Given the description of an element on the screen output the (x, y) to click on. 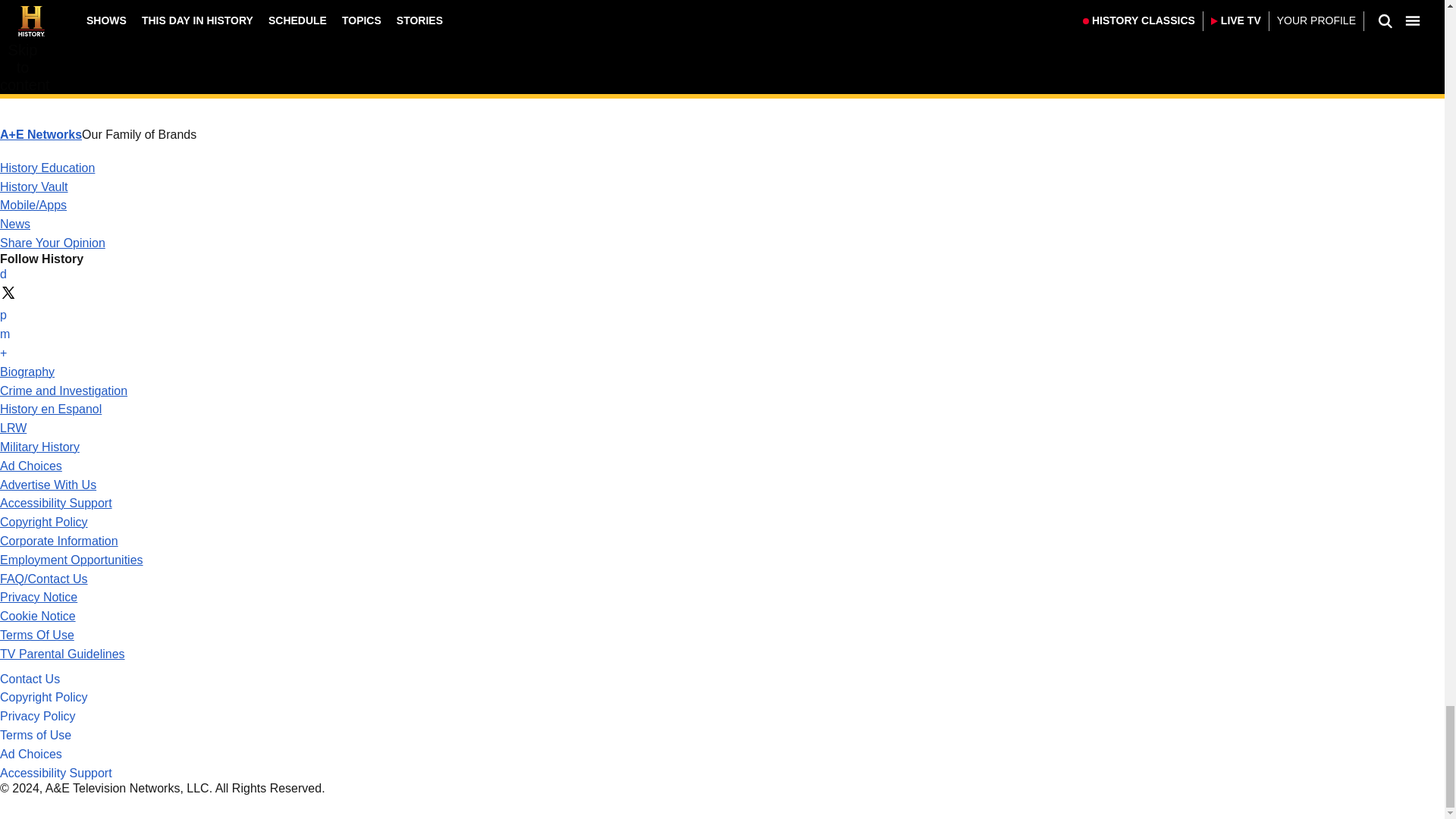
Visit Crime and Investigation (64, 390)
Visit Advertise With Us (48, 484)
Visit History Education (47, 167)
Visit Biography (27, 371)
Visit Share Your Opinion (52, 242)
Visit Military History (40, 446)
Visit Copyright Policy (43, 521)
Visit LRW (13, 427)
Visit Employment Opportunities (71, 559)
Visit Accessibility Support (56, 502)
Visit News (15, 223)
Visit History en Espanol (50, 408)
Visit Corporate Information (58, 540)
Visit History Vault (34, 186)
Visit Ad Choices (31, 465)
